Given the description of an element on the screen output the (x, y) to click on. 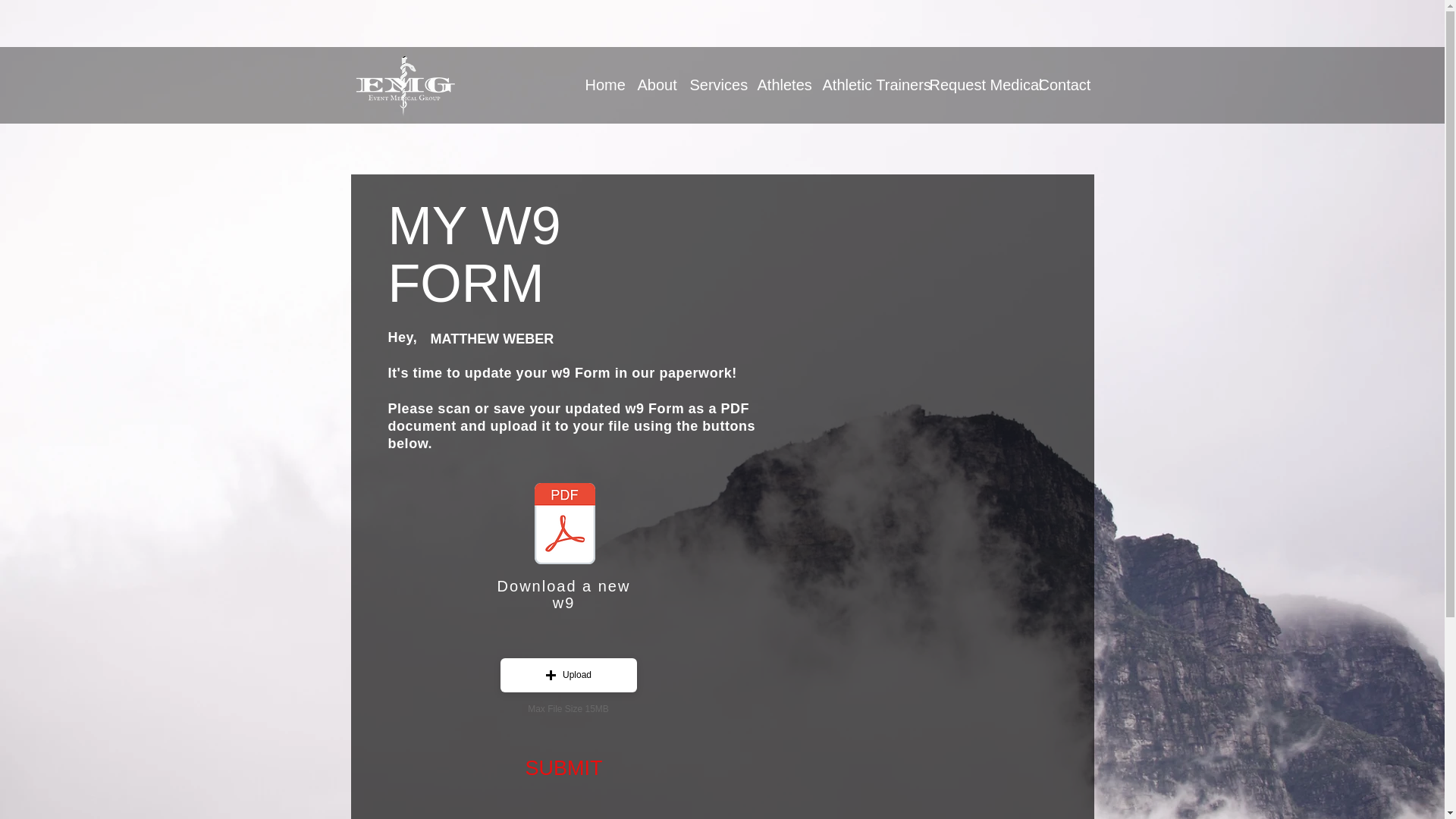
About (652, 84)
Request Medical (971, 84)
fw9.pdf (564, 525)
Contact (1057, 84)
Athletes (777, 84)
Athletic Trainers (864, 84)
EMG White.png (404, 94)
Home (599, 84)
Services (711, 84)
MATTHEW WEBER (531, 339)
Max File Size 15MB (567, 708)
SUBMIT (563, 768)
